Given the description of an element on the screen output the (x, y) to click on. 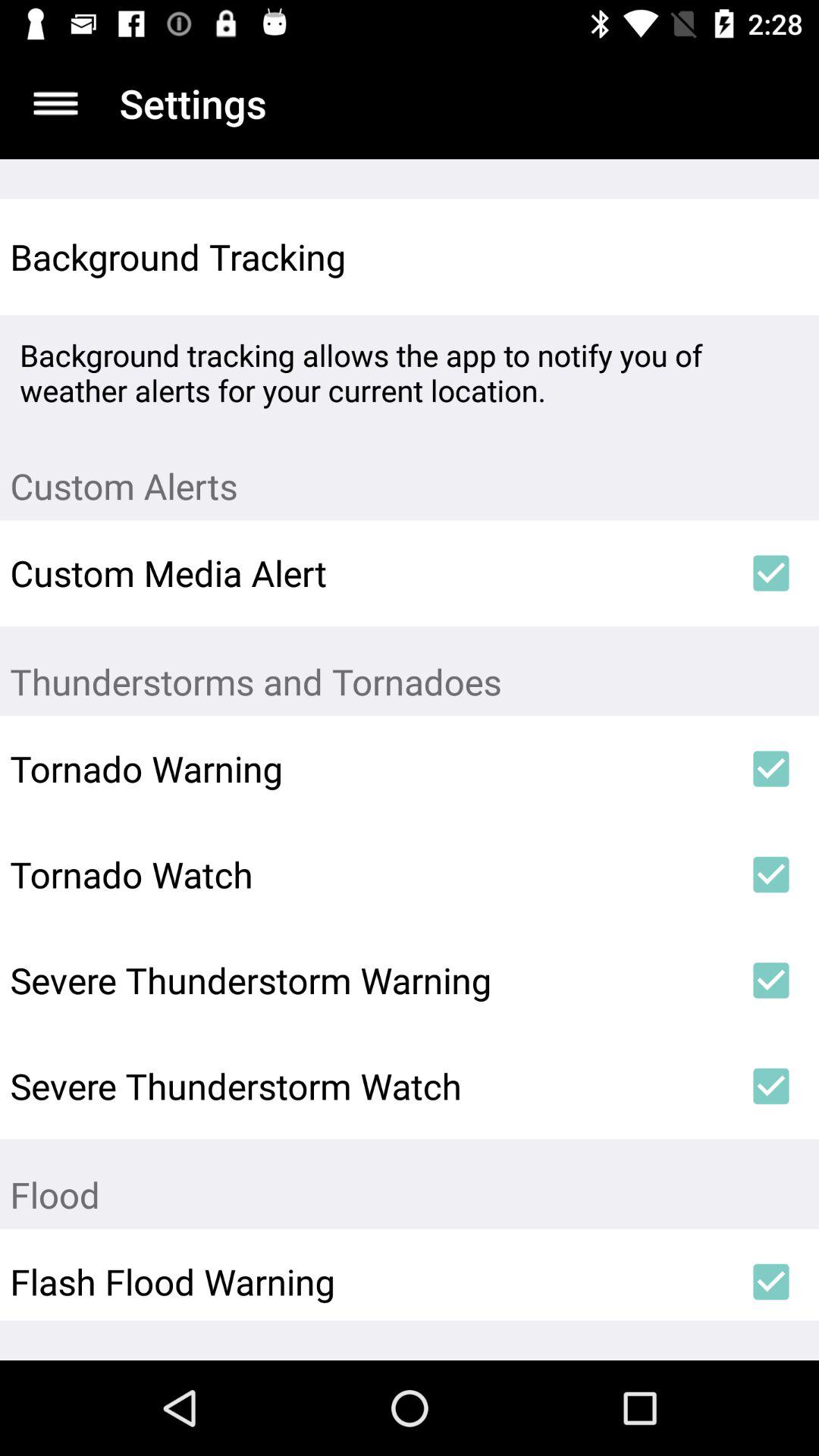
tap item next to the tornado watch icon (771, 874)
